Given the description of an element on the screen output the (x, y) to click on. 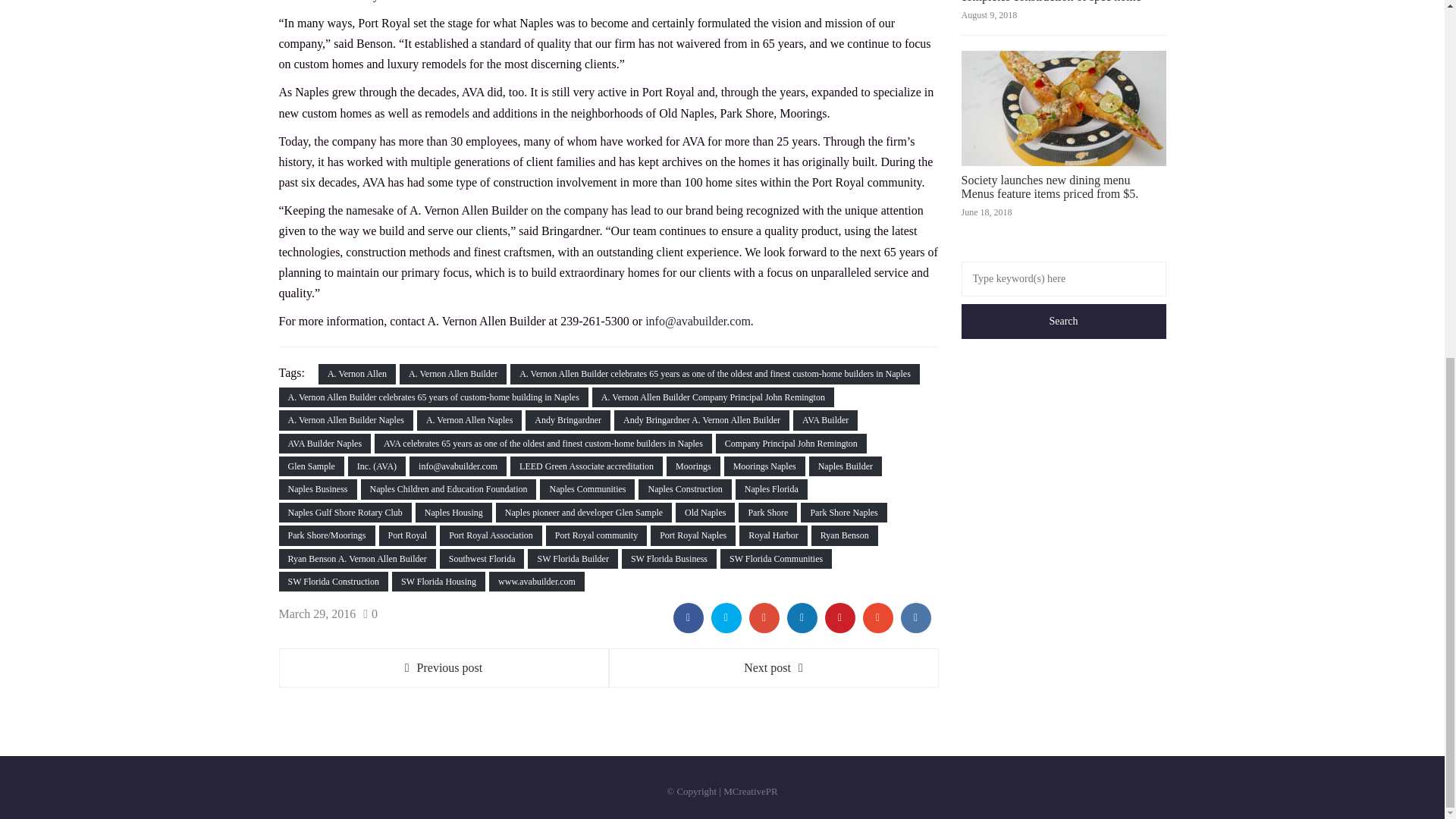
Share with Google Plus (763, 617)
Share with LinkedIn (801, 617)
Share with VKontakte (916, 617)
Naples Gulf Shore Rotary Club (345, 512)
AVA Builder (825, 419)
A. Vernon Allen Builder Naples (346, 419)
A. Vernon Allen Naples (468, 419)
A. Vernon Allen Builder (452, 373)
AVA Builder Naples (325, 443)
Naples Builder (845, 465)
Share with StumbleUpon (878, 617)
Glen Sample (311, 465)
Naples Construction (684, 488)
